Given the description of an element on the screen output the (x, y) to click on. 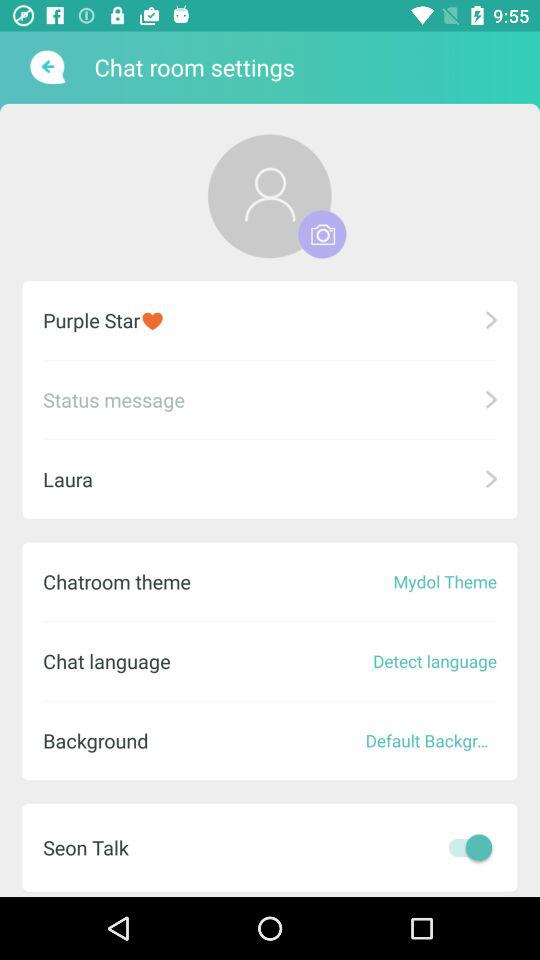
back button (45, 67)
